Given the description of an element on the screen output the (x, y) to click on. 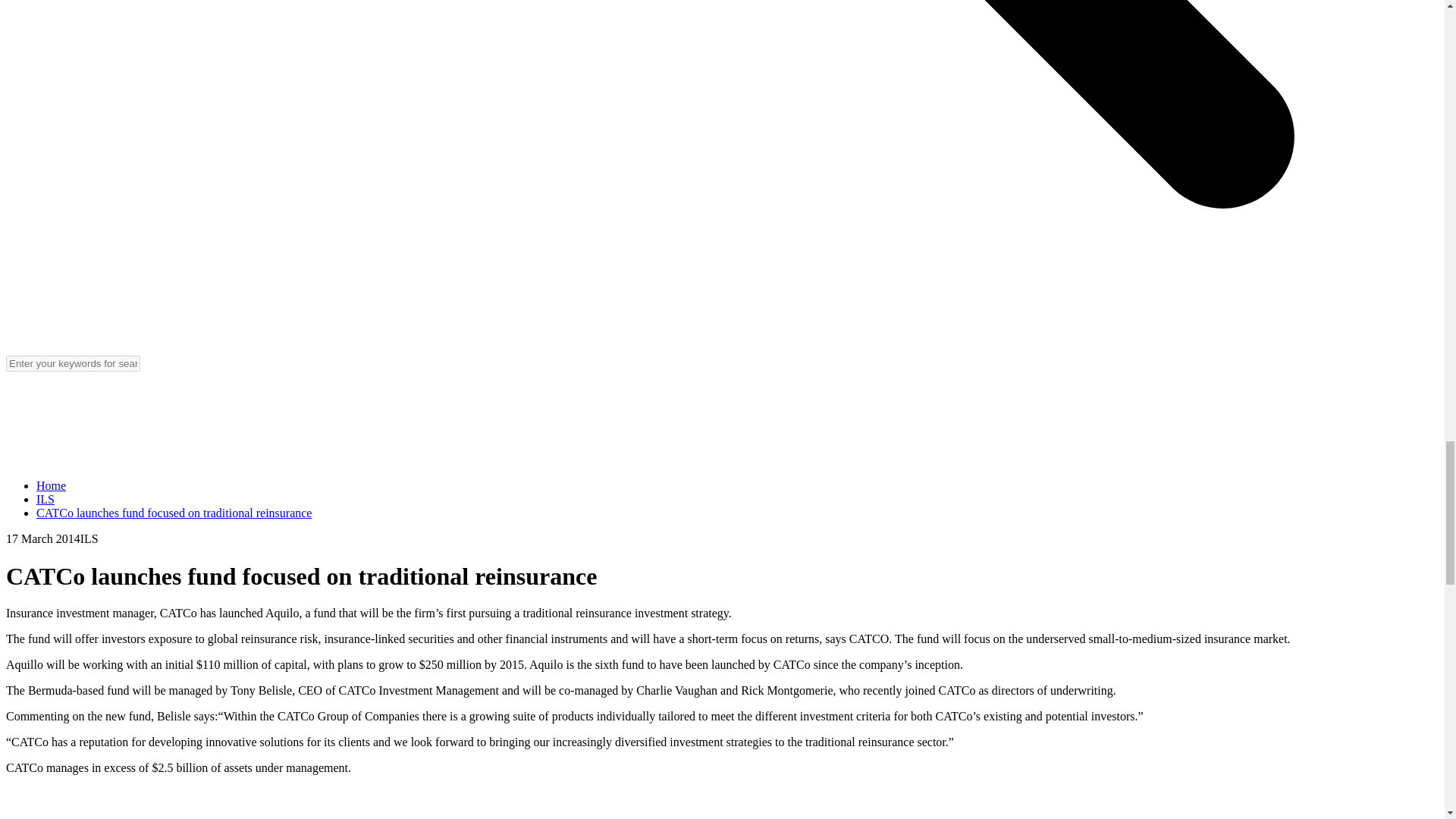
ILS (45, 499)
CATCo launches fund focused on traditional reinsurance (173, 512)
Home (50, 485)
